Given the description of an element on the screen output the (x, y) to click on. 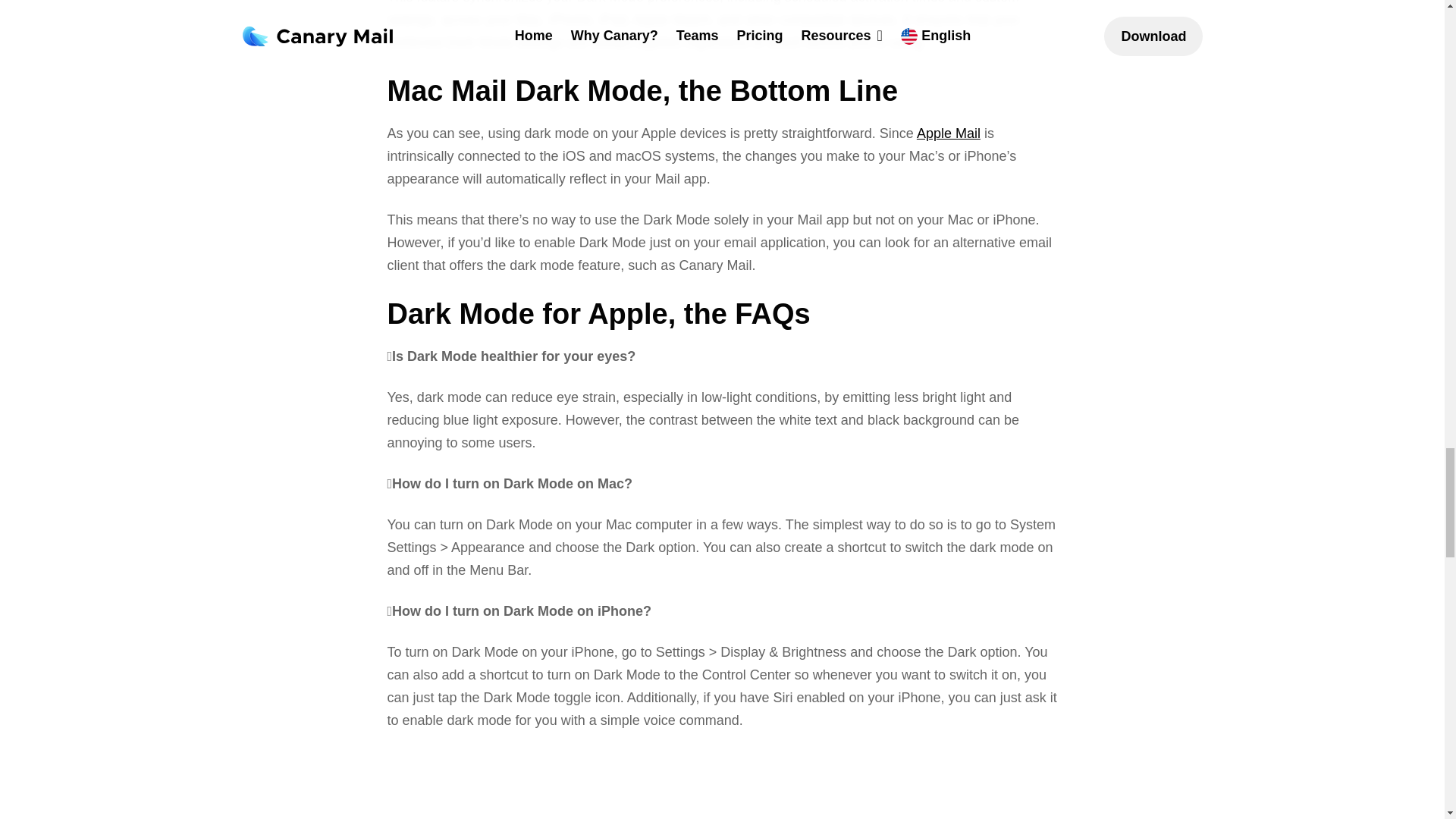
Apple Mail (948, 133)
